Given the description of an element on the screen output the (x, y) to click on. 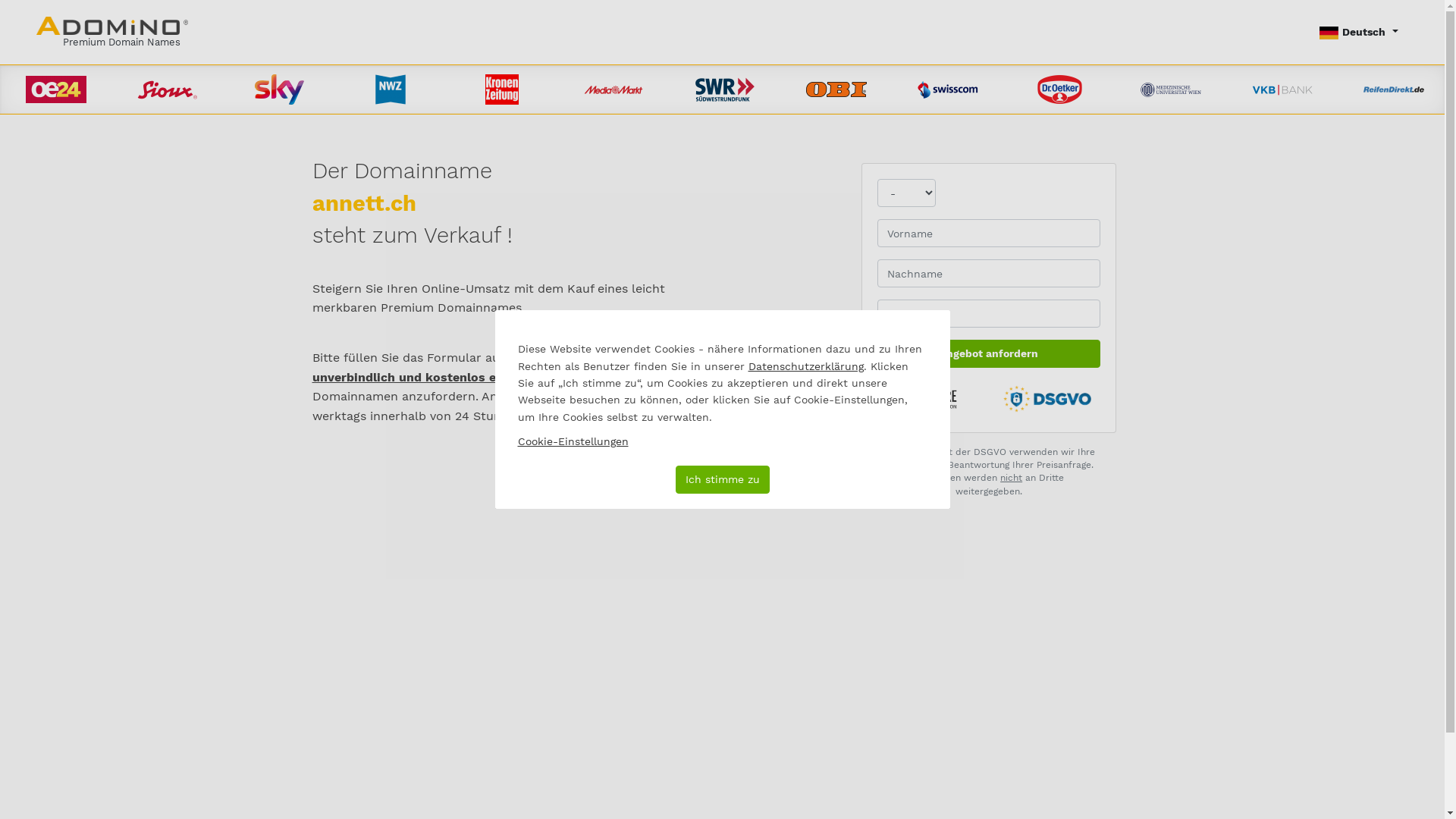
Ich stimme zu Element type: text (721, 479)
Deutsch Element type: text (1358, 32)
Angebot anfordern Element type: text (989, 353)
Premium Domain Names Element type: text (112, 31)
Cookie-Einstellungen Element type: text (572, 441)
